Given the description of an element on the screen output the (x, y) to click on. 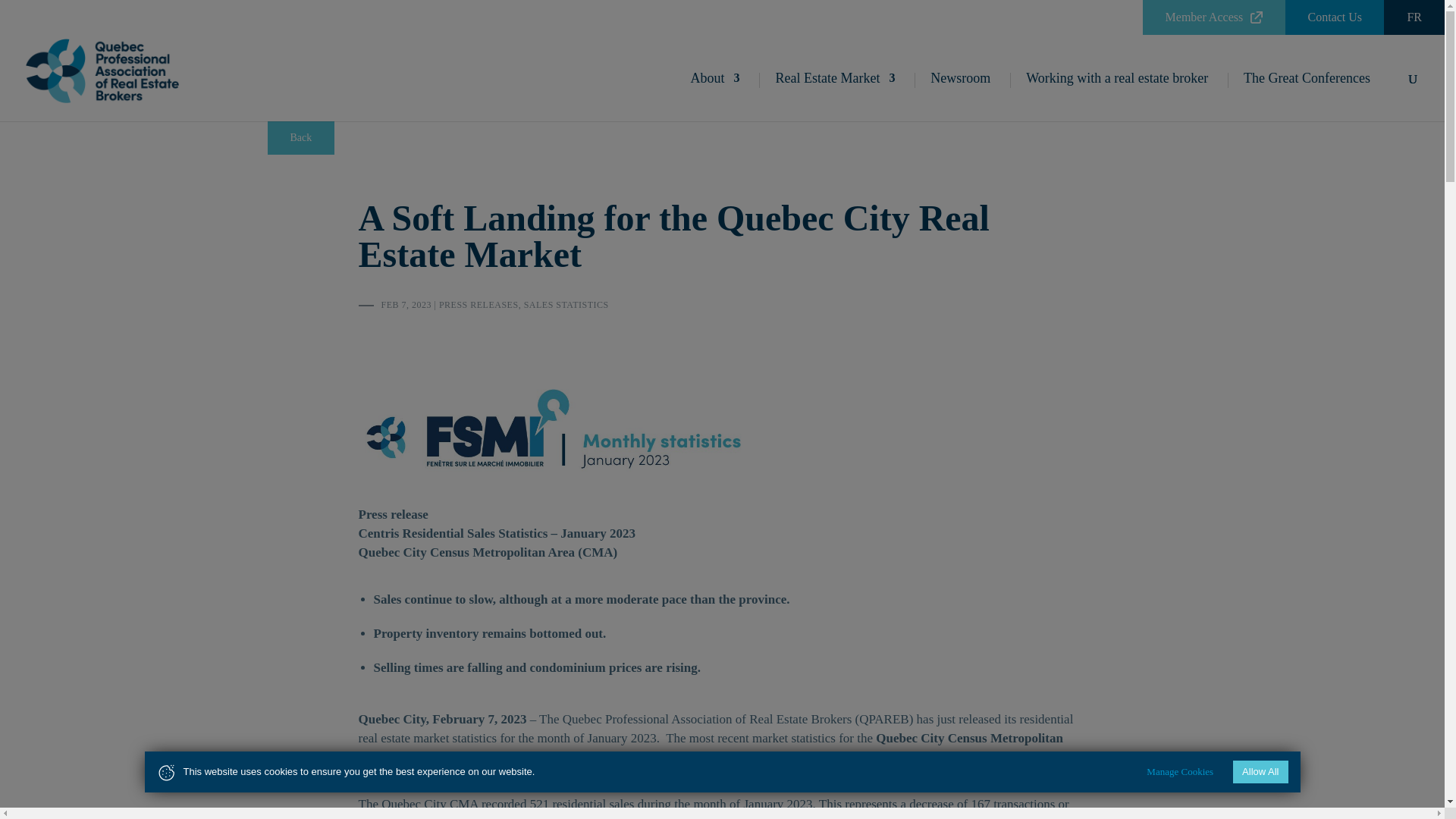
FR (1414, 17)
Member Access (1214, 17)
Working with a real estate broker (1109, 96)
The Great Conferences (1298, 96)
About (714, 96)
FR (1414, 17)
Contact Us (1334, 17)
Newsroom (952, 96)
Real Estate Market (826, 96)
